Given the description of an element on the screen output the (x, y) to click on. 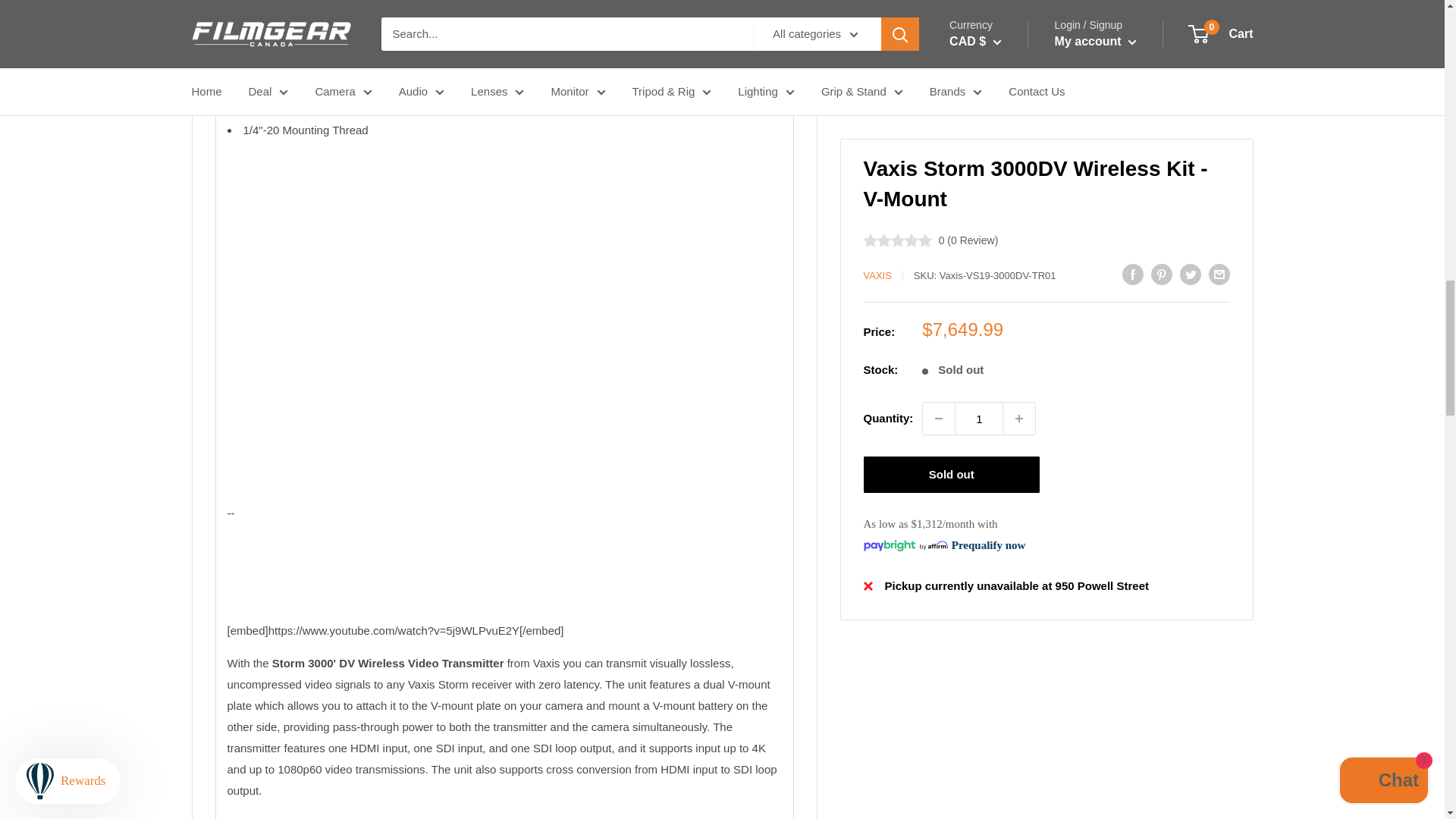
Page 5 (504, 698)
Page 6 (504, 113)
